Given the description of an element on the screen output the (x, y) to click on. 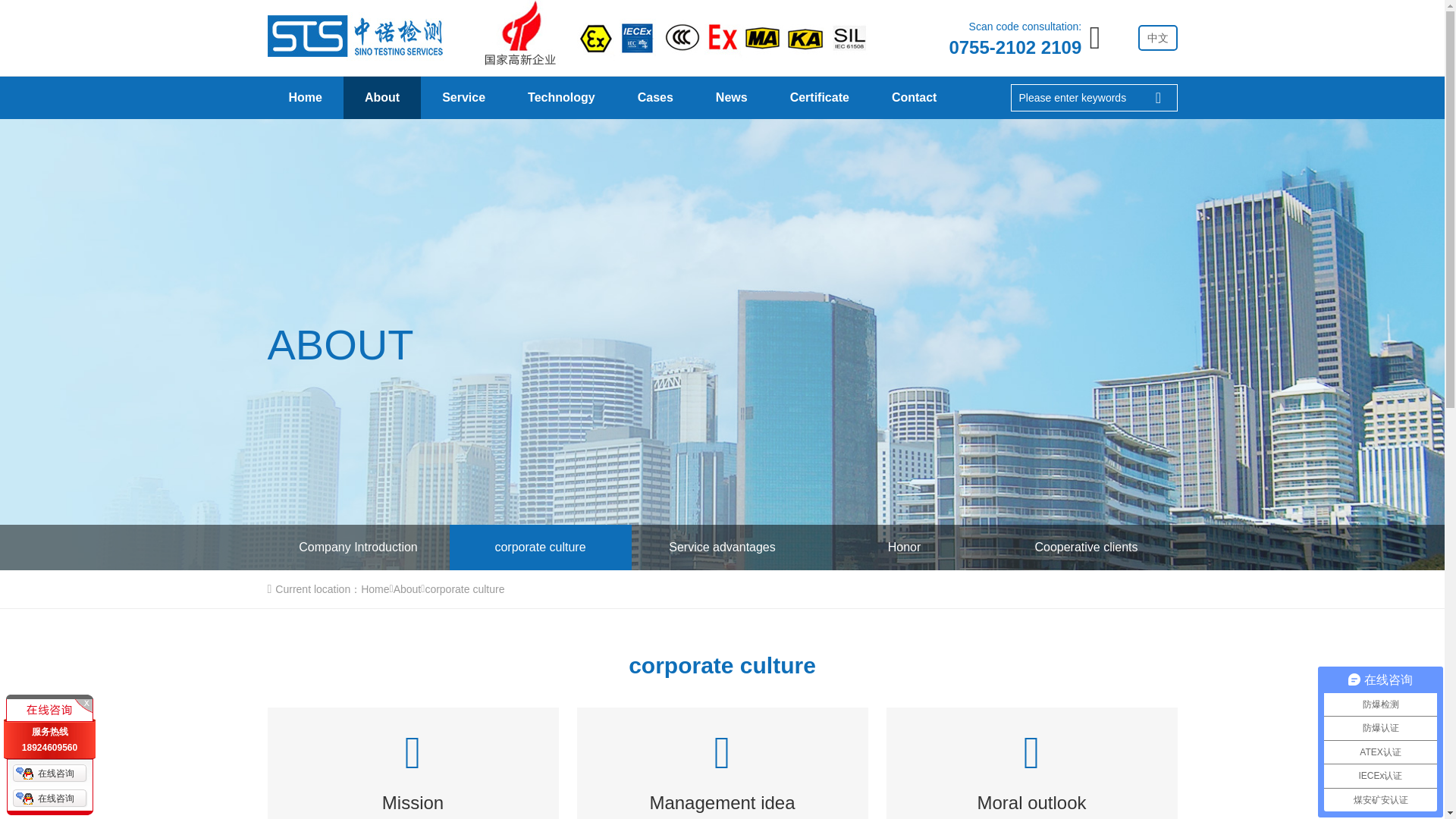
Service (463, 97)
News (731, 97)
Technology (560, 97)
About (381, 97)
Service (463, 97)
Cases (654, 97)
Home (304, 97)
About (381, 97)
Certificate (819, 97)
Home (304, 97)
